Given the description of an element on the screen output the (x, y) to click on. 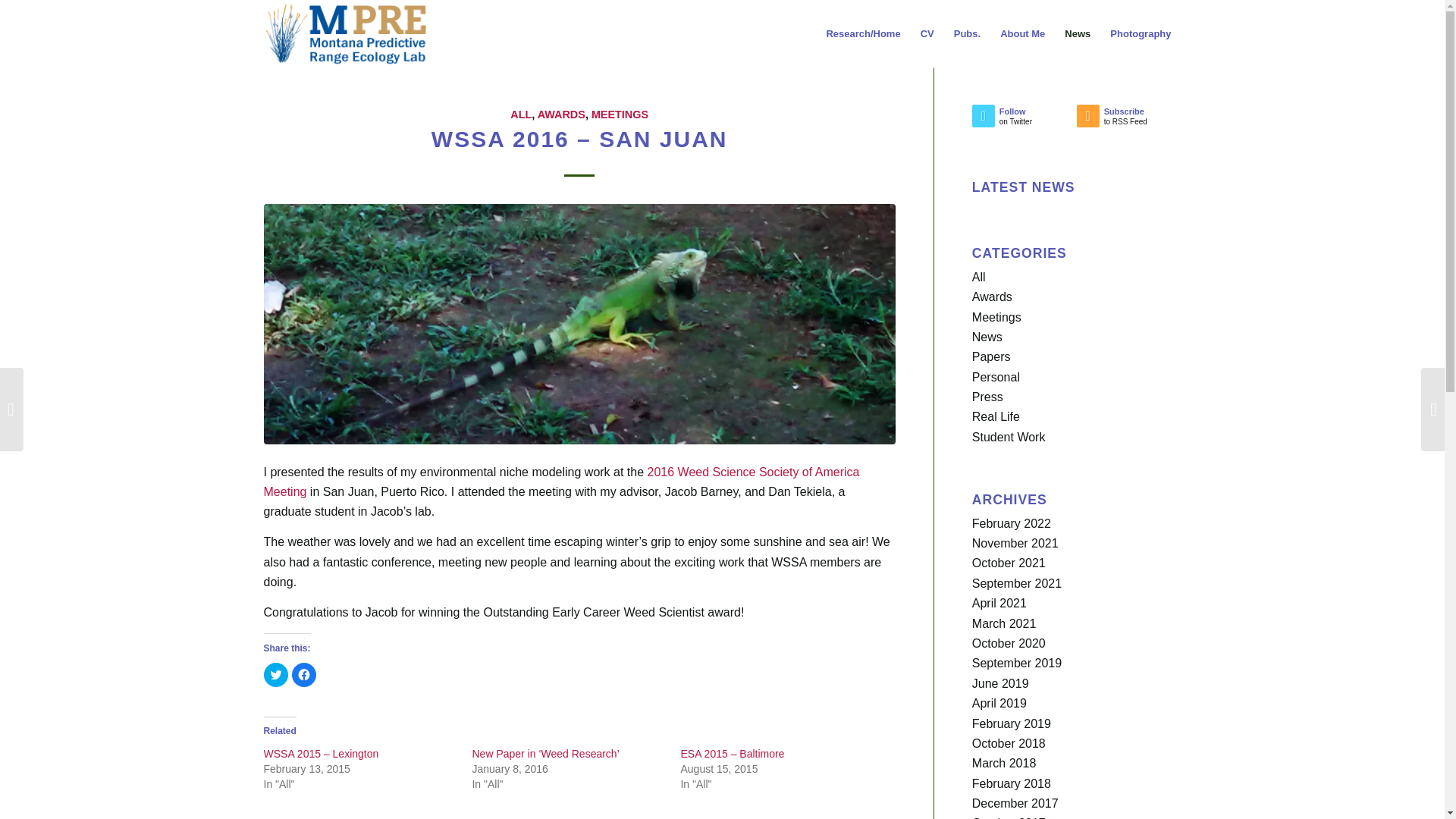
Photography (1140, 33)
All (978, 277)
AWARDS (561, 114)
Meetings (997, 317)
Papers (1128, 119)
Click to share on Facebook (991, 356)
Click to share on Twitter (303, 674)
2016 Weed Science Society of America Meeting (275, 674)
Press (561, 481)
MEETINGS (987, 396)
MPreLogoBlueAlpha (619, 114)
Awards (346, 33)
About Me (991, 296)
